Given the description of an element on the screen output the (x, y) to click on. 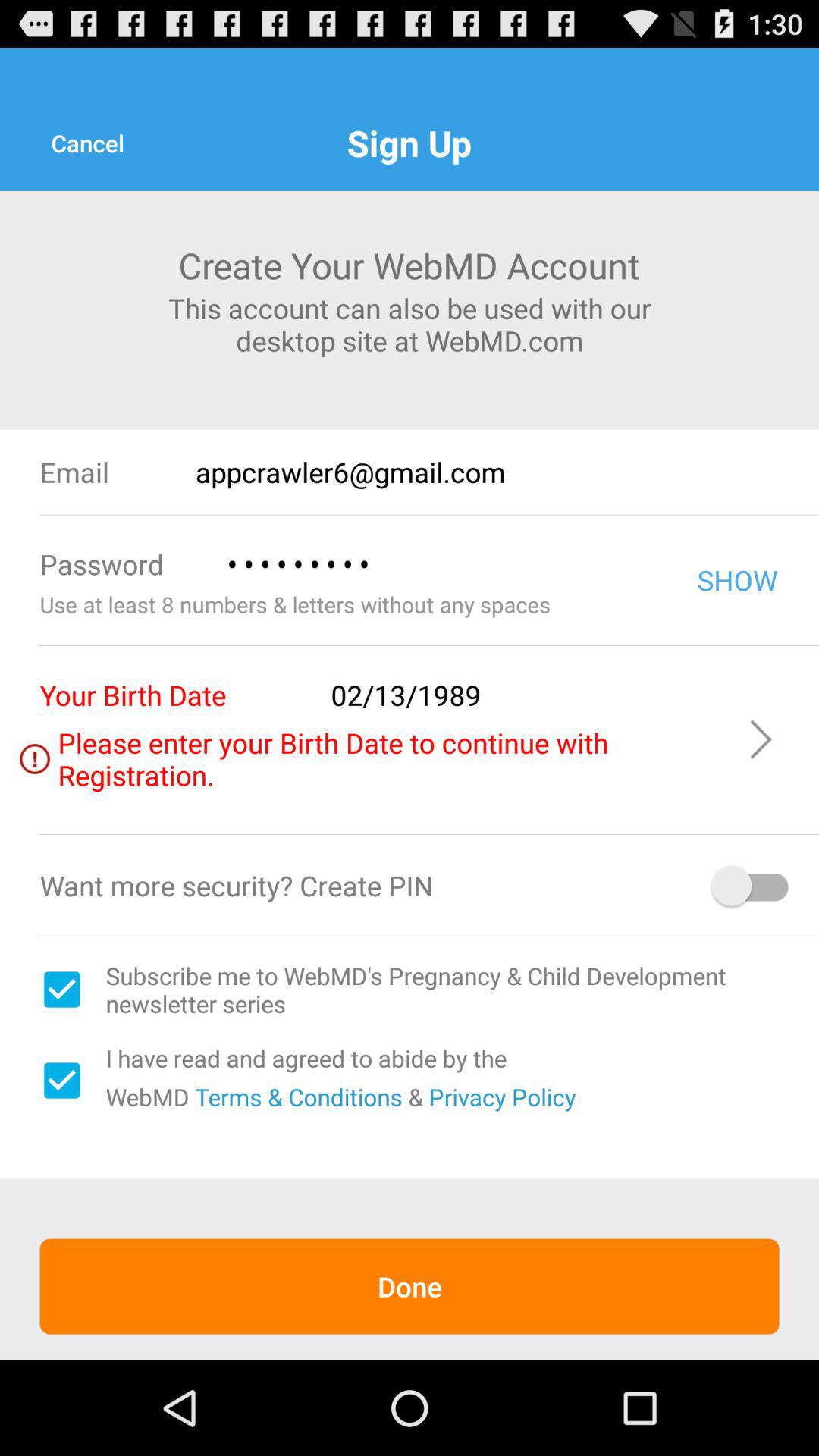
launch icon to the right of your birth date item (528, 694)
